Given the description of an element on the screen output the (x, y) to click on. 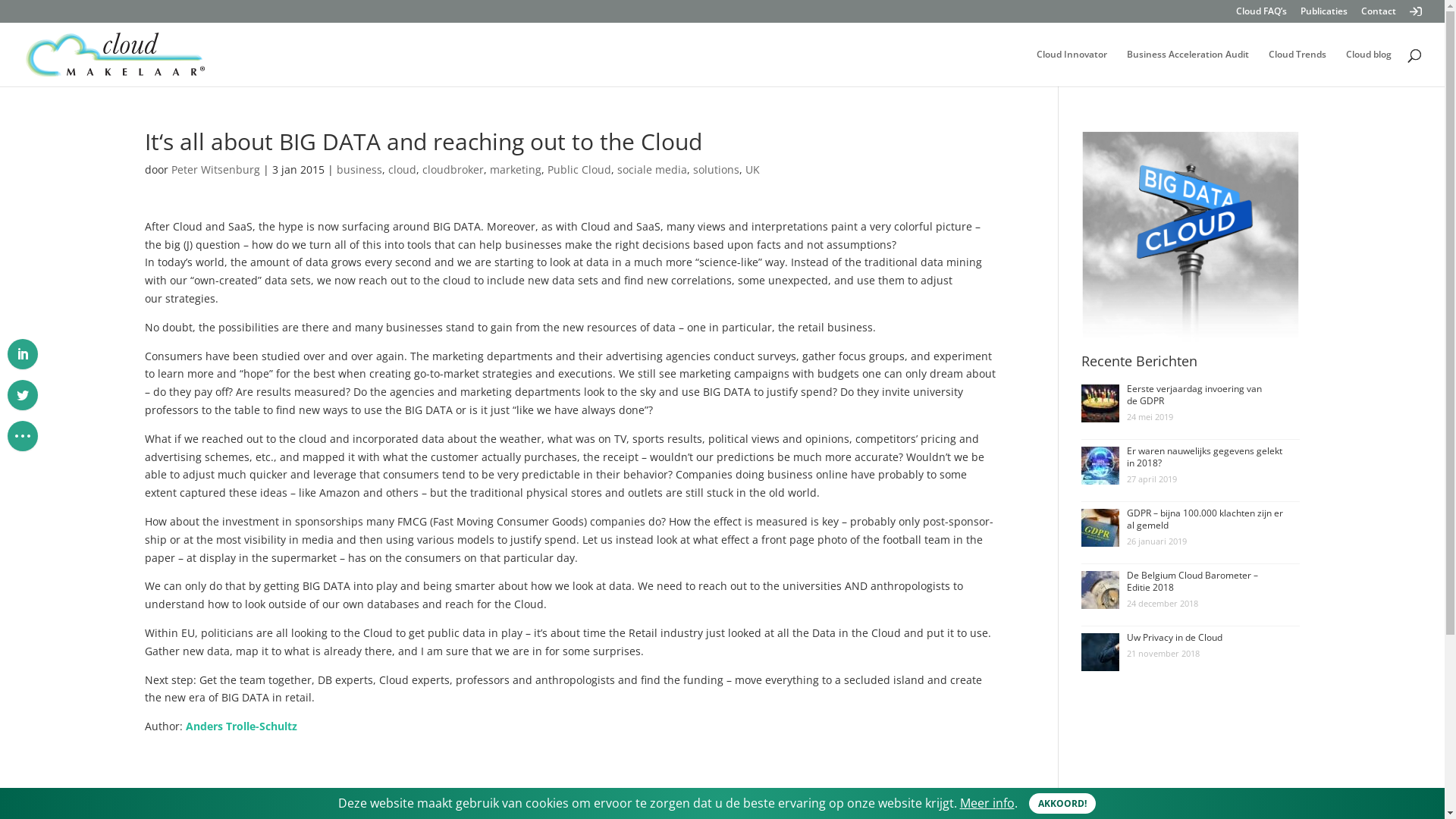
marketing Element type: text (515, 169)
Meer info Element type: text (987, 802)
business Element type: text (359, 169)
cloud Element type: text (402, 169)
AKKOORD! Element type: text (1061, 803)
Peter Witsenburg Element type: text (215, 169)
UK Element type: text (751, 169)
Cloud Trends Element type: text (1297, 67)
Cloud blog Element type: text (1368, 67)
solutions Element type: text (716, 169)
cloudbroker Element type: text (452, 169)
Eerste verjaardag invoering van de GDPR Element type: text (1193, 394)
Cloud Innovator Element type: text (1071, 67)
Anders Trolle-Schultz Element type: text (240, 725)
Contact Element type: text (1378, 14)
sociale media Element type: text (652, 169)
Uw Privacy in de Cloud Element type: text (1174, 636)
Public Cloud Element type: text (579, 169)
